Given the description of an element on the screen output the (x, y) to click on. 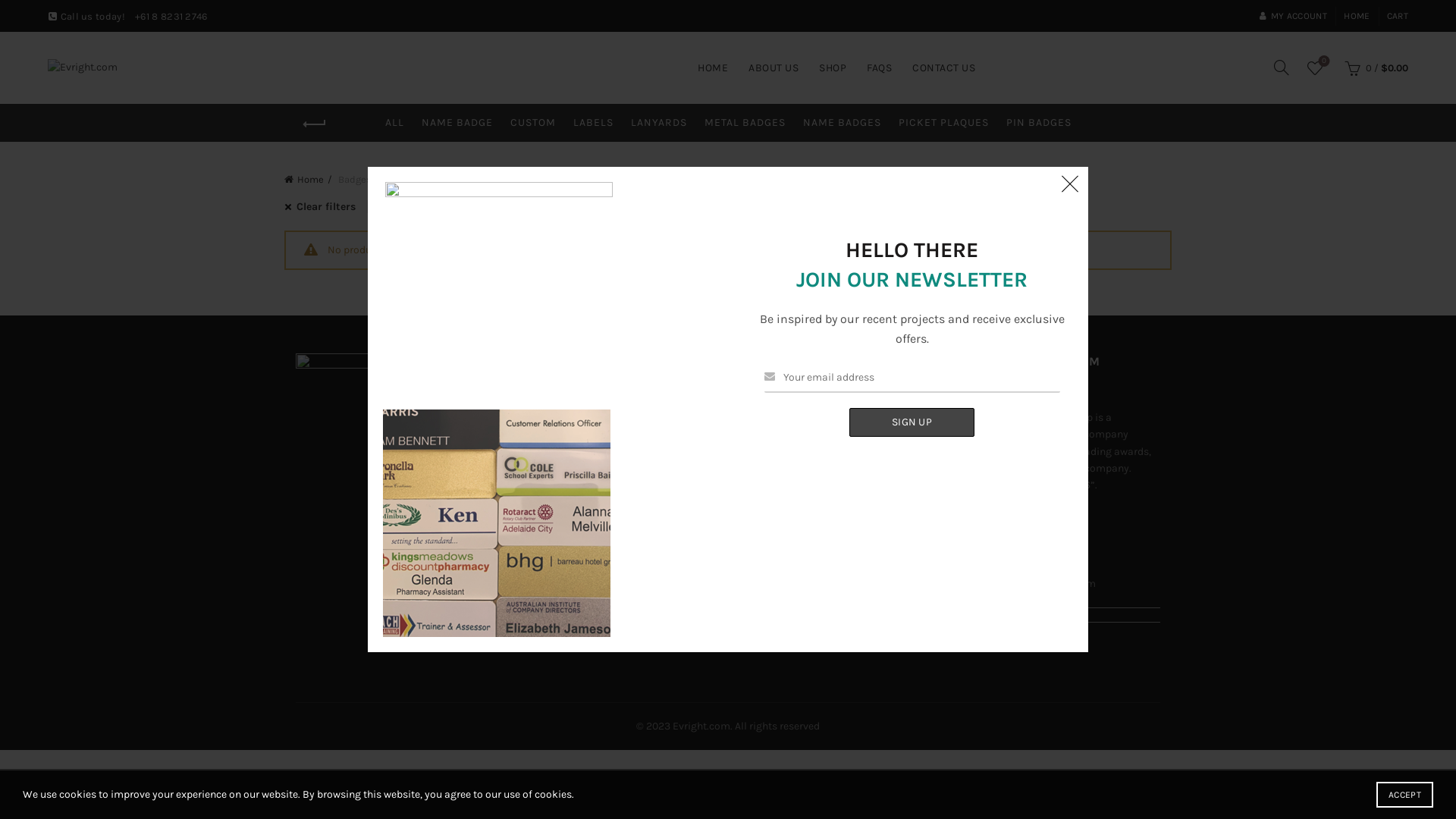
Clear filters Element type: text (325, 206)
NAME BADGES Element type: text (841, 122)
CONTACT US Element type: text (943, 67)
PIN BADGES Element type: text (1037, 122)
HOME Element type: text (712, 67)
SHOP Element type: text (832, 67)
Evright.com Element type: text (701, 725)
CART Element type: text (1397, 15)
Instagram Element type: text (764, 396)
Contact Us Element type: text (765, 440)
METAL BADGES Element type: text (744, 122)
Min $20.00 Element type: text (462, 206)
Latest News Element type: text (768, 462)
Blue Element type: text (398, 206)
LABELS Element type: text (593, 122)
Sign up Element type: text (911, 421)
Back Element type: text (314, 124)
Home Element type: text (308, 179)
Search Element type: text (30, 45)
SEARCH Element type: text (845, 300)
NAME BADGE Element type: text (457, 122)
Max $40.00 Element type: text (545, 206)
Privacy Policy Element type: text (550, 396)
MY ACCOUNT Element type: text (1292, 15)
badges@evright.com Element type: text (1044, 583)
Facebook Element type: text (762, 418)
CUSTOM Element type: text (532, 122)
HOME Element type: text (1356, 15)
ACCEPT Element type: text (1404, 794)
ABOUT US Element type: text (773, 67)
ALL Element type: text (394, 122)
Terms & Conditions Element type: text (564, 440)
0 / $0.00 Element type: text (1374, 67)
Returns Element type: text (535, 418)
Wishlist
0 Element type: text (1314, 67)
LANYARDS Element type: text (658, 122)
FAQS Element type: text (878, 67)
PICKET PLAQUES Element type: text (942, 122)
